Given the description of an element on the screen output the (x, y) to click on. 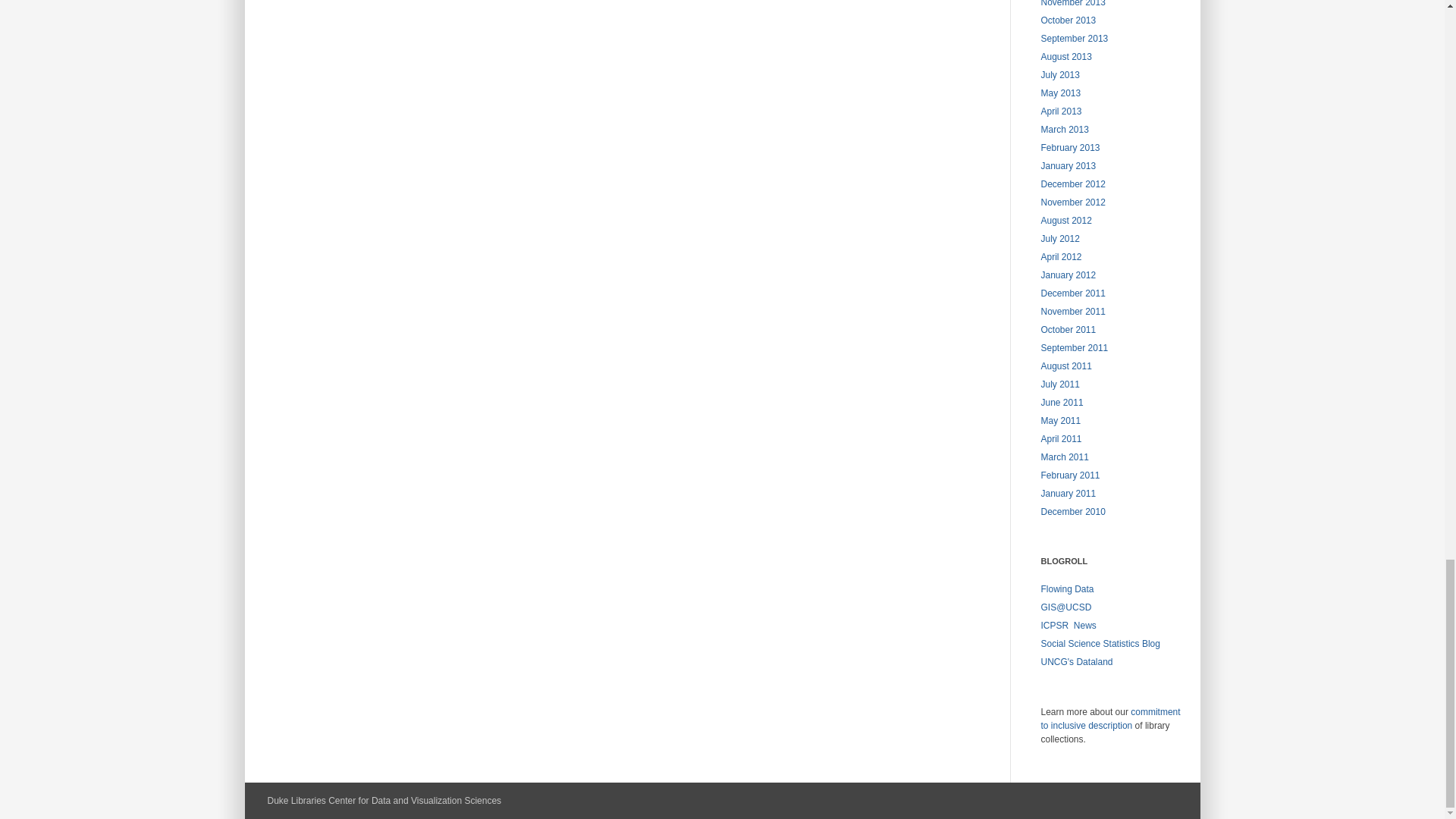
Data Visualization (1067, 588)
